Given the description of an element on the screen output the (x, y) to click on. 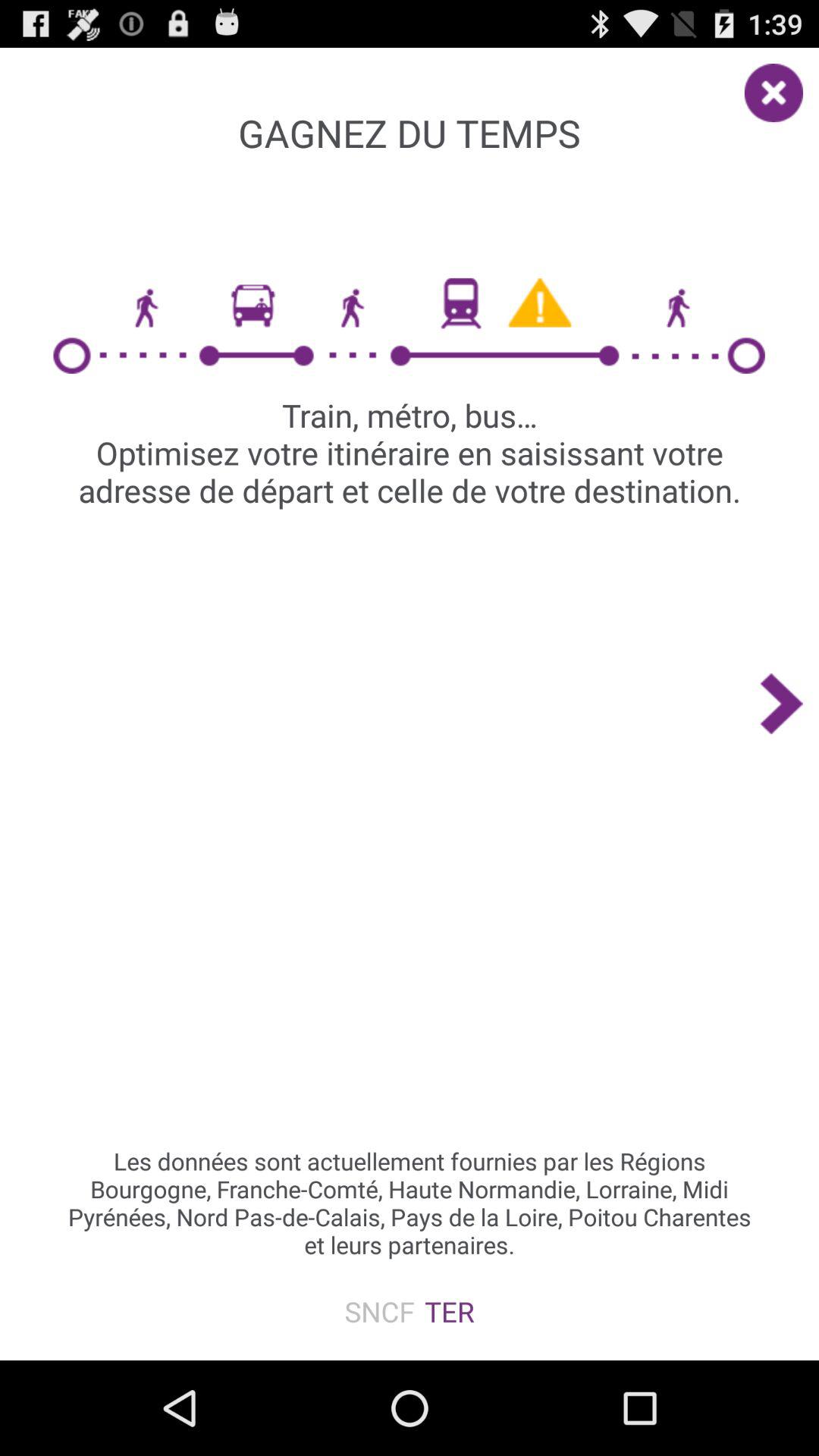
select item at the top right corner (781, 84)
